Given the description of an element on the screen output the (x, y) to click on. 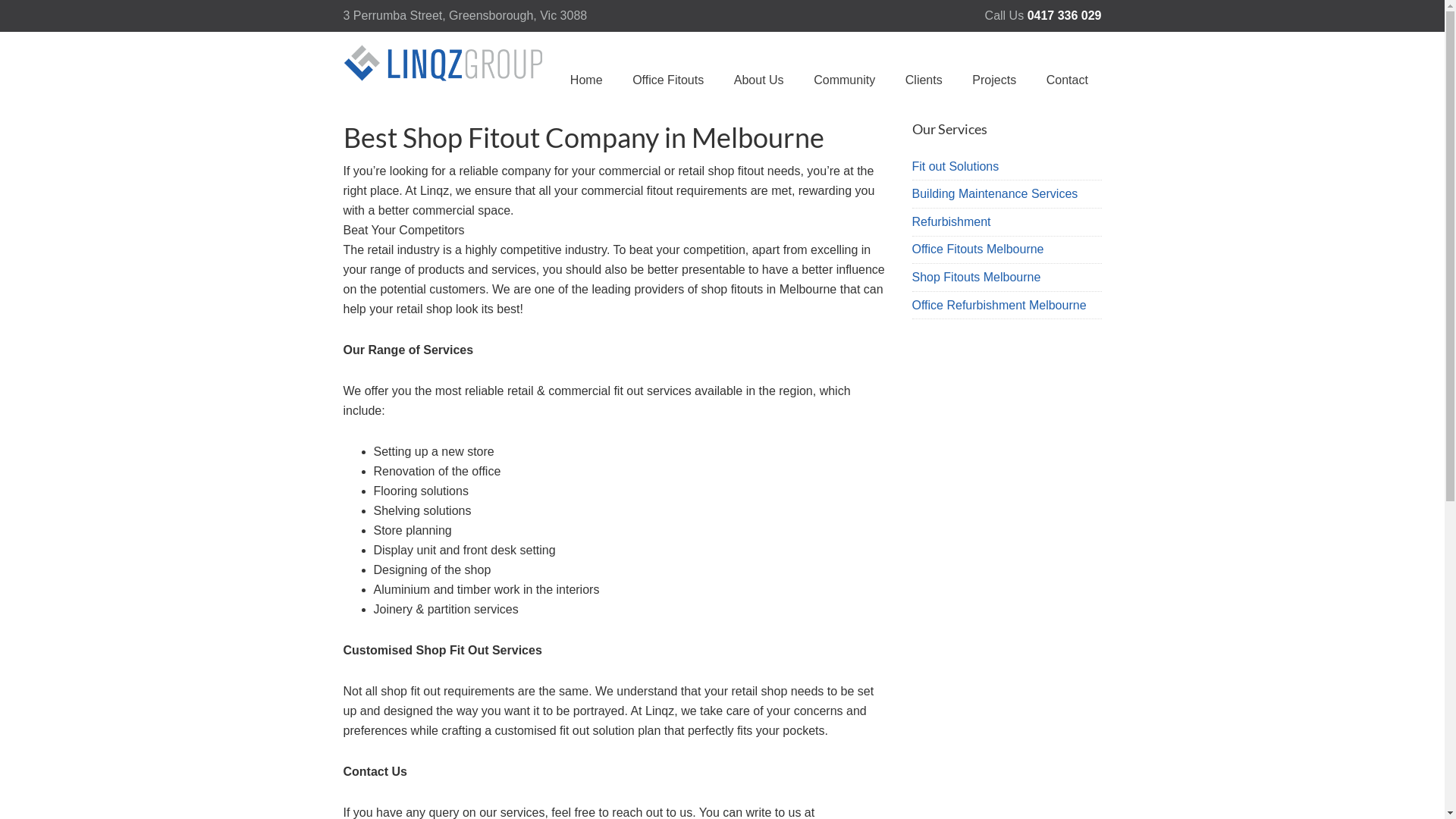
Clients Element type: text (923, 79)
About Us Element type: text (758, 79)
Linqz Group Element type: hover (444, 77)
Fit out Solutions Element type: text (1006, 166)
Contact Element type: text (1066, 79)
Community Element type: text (844, 79)
Projects Element type: text (994, 79)
Shop Fitouts Melbourne Element type: text (1006, 277)
Home Element type: text (585, 79)
Office Fitouts Melbourne Element type: text (1006, 249)
Office Refurbishment Melbourne Element type: text (1006, 305)
Office Fitouts Element type: text (668, 79)
0417 336 029 Element type: text (1064, 15)
Building Maintenance Services Element type: text (1006, 193)
3 Perrumba Street, Greensborough, Vic 3088 Element type: text (464, 15)
Refurbishment Element type: text (1006, 221)
